Given the description of an element on the screen output the (x, y) to click on. 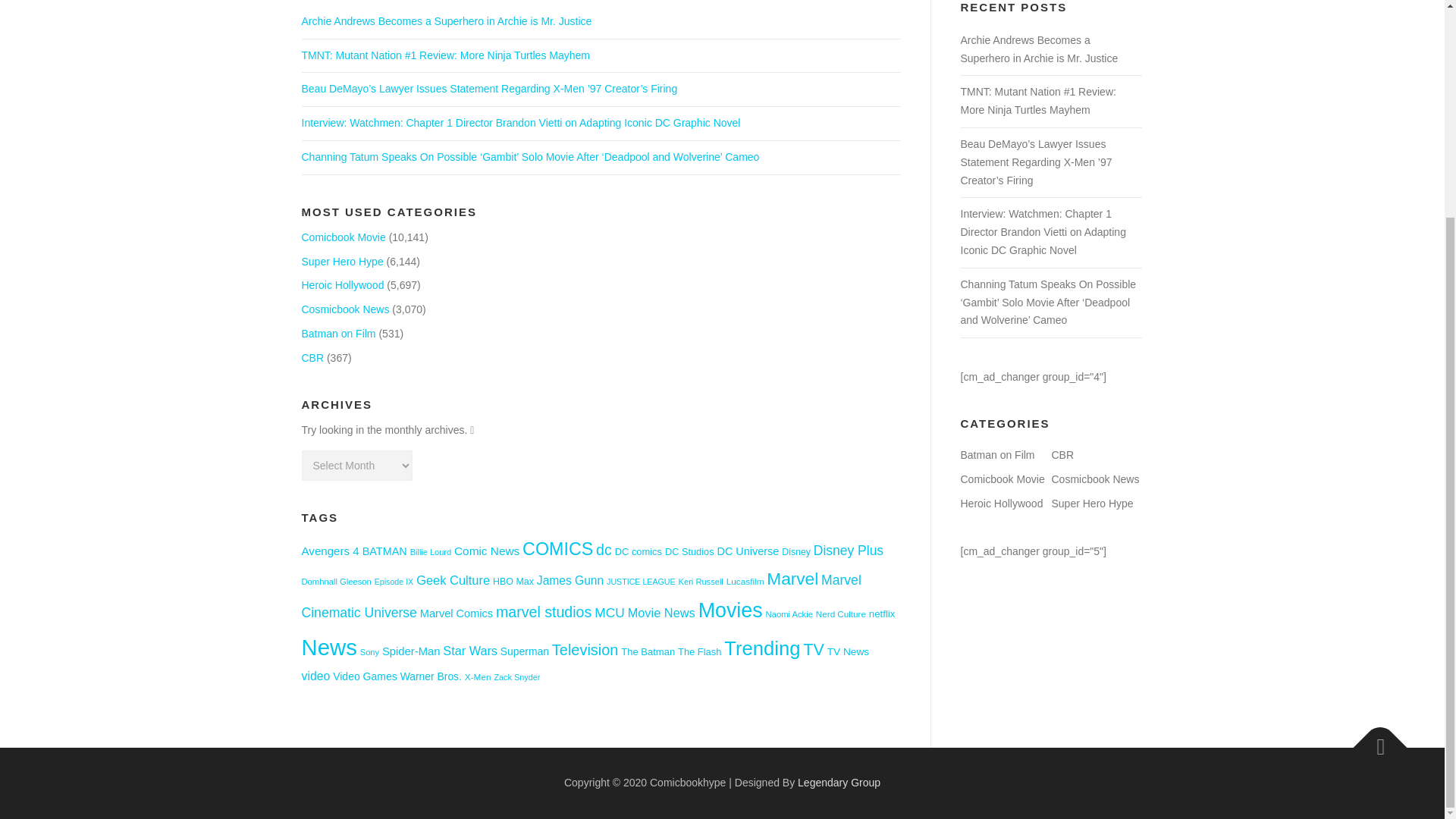
Super Hero Hype (342, 261)
Keri Russell (700, 581)
COMICS (557, 548)
Marvel (792, 578)
Back To Top (1372, 739)
Lucasfilm (745, 581)
Disney (795, 552)
DC comics (638, 551)
dc (603, 549)
HBO Max (513, 581)
